Given the description of an element on the screen output the (x, y) to click on. 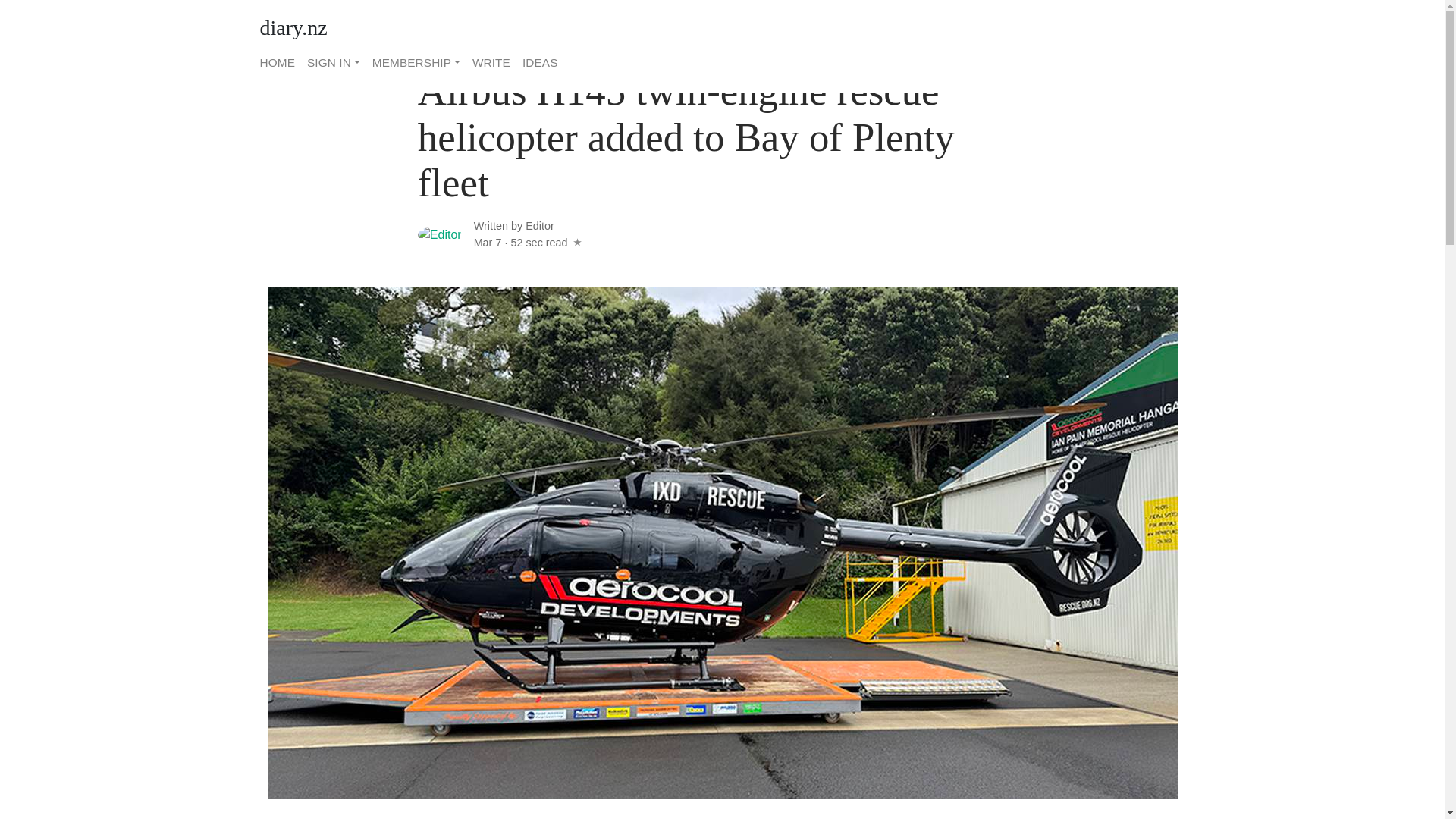
HOME (279, 62)
IDEAS (536, 62)
GOOD NEWS (455, 48)
MEMBERSHIP (415, 62)
WRITE (490, 62)
SIGN IN (333, 62)
diary.nz (292, 28)
Written by Editor (514, 225)
